Given the description of an element on the screen output the (x, y) to click on. 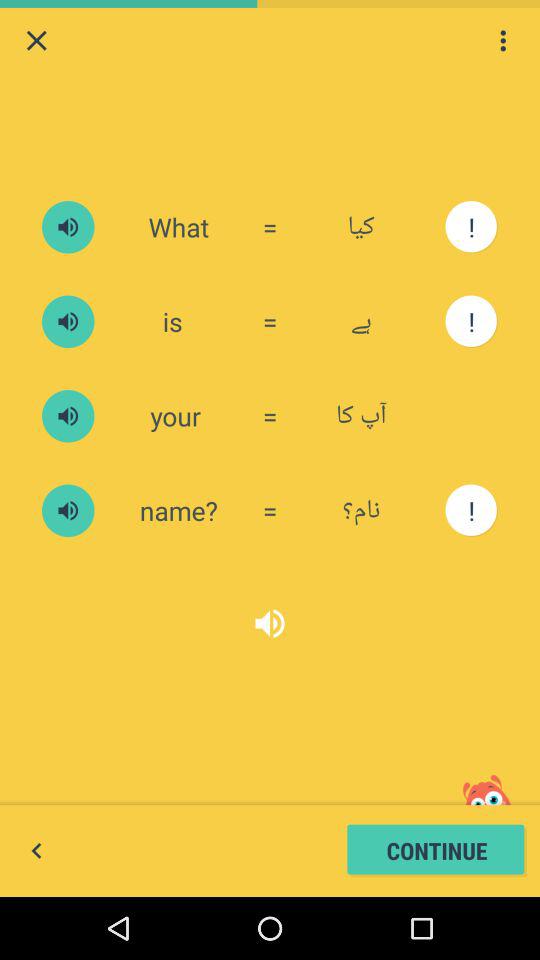
mute (68, 510)
